Given the description of an element on the screen output the (x, y) to click on. 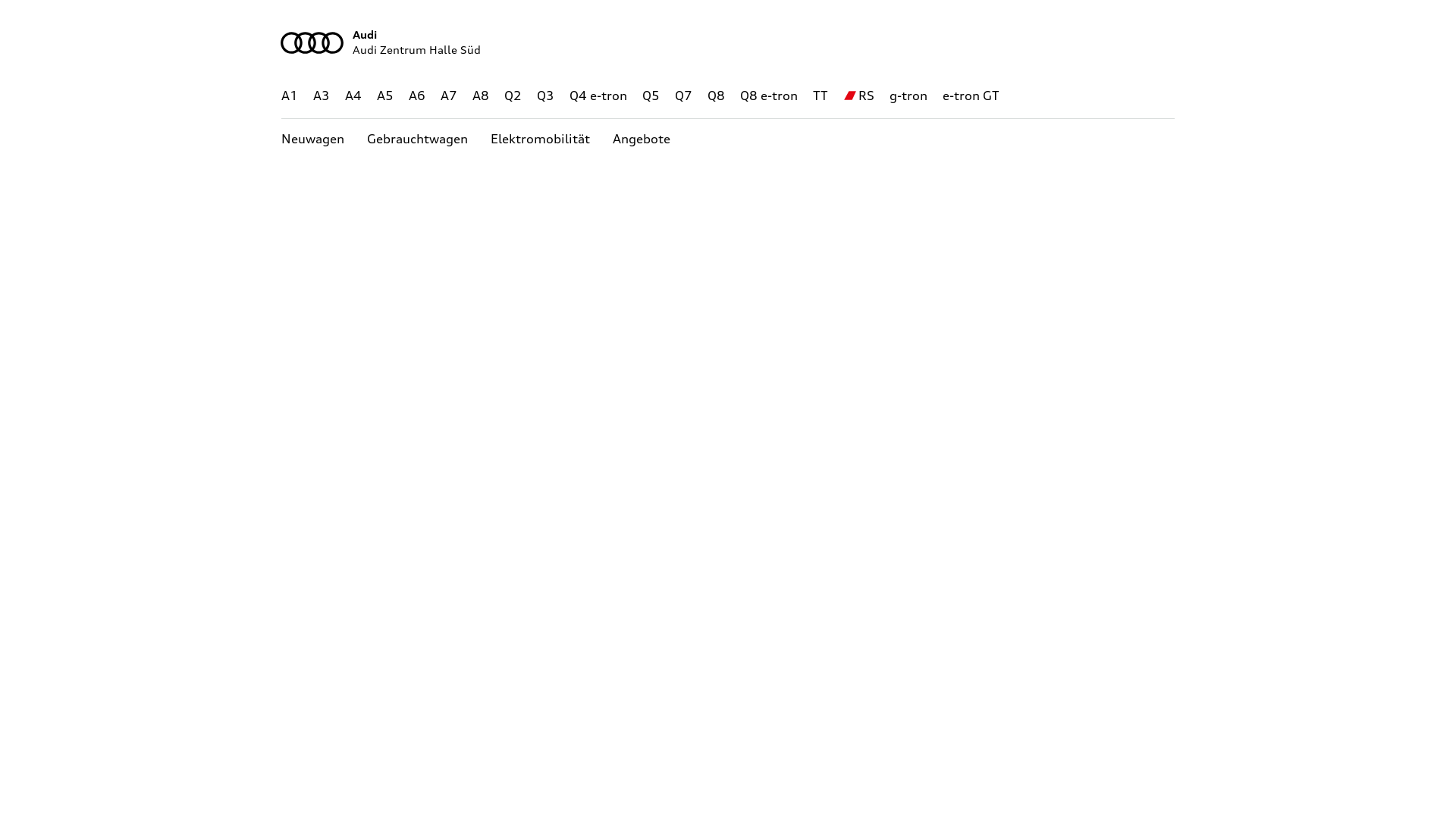
Neuwagen Element type: text (312, 139)
Q2 Element type: text (512, 95)
e-tron GT Element type: text (970, 95)
Angebote Element type: text (641, 139)
TT Element type: text (820, 95)
A4 Element type: text (353, 95)
g-tron Element type: text (908, 95)
A6 Element type: text (416, 95)
Q8 Element type: text (715, 95)
Q8 e-tron Element type: text (768, 95)
A7 Element type: text (448, 95)
A5 Element type: text (384, 95)
RS Element type: text (866, 95)
Q3 Element type: text (545, 95)
Q7 Element type: text (683, 95)
Q4 e-tron Element type: text (598, 95)
A8 Element type: text (480, 95)
Q5 Element type: text (650, 95)
A1 Element type: text (289, 95)
Gebrauchtwagen Element type: text (417, 139)
A3 Element type: text (321, 95)
